Given the description of an element on the screen output the (x, y) to click on. 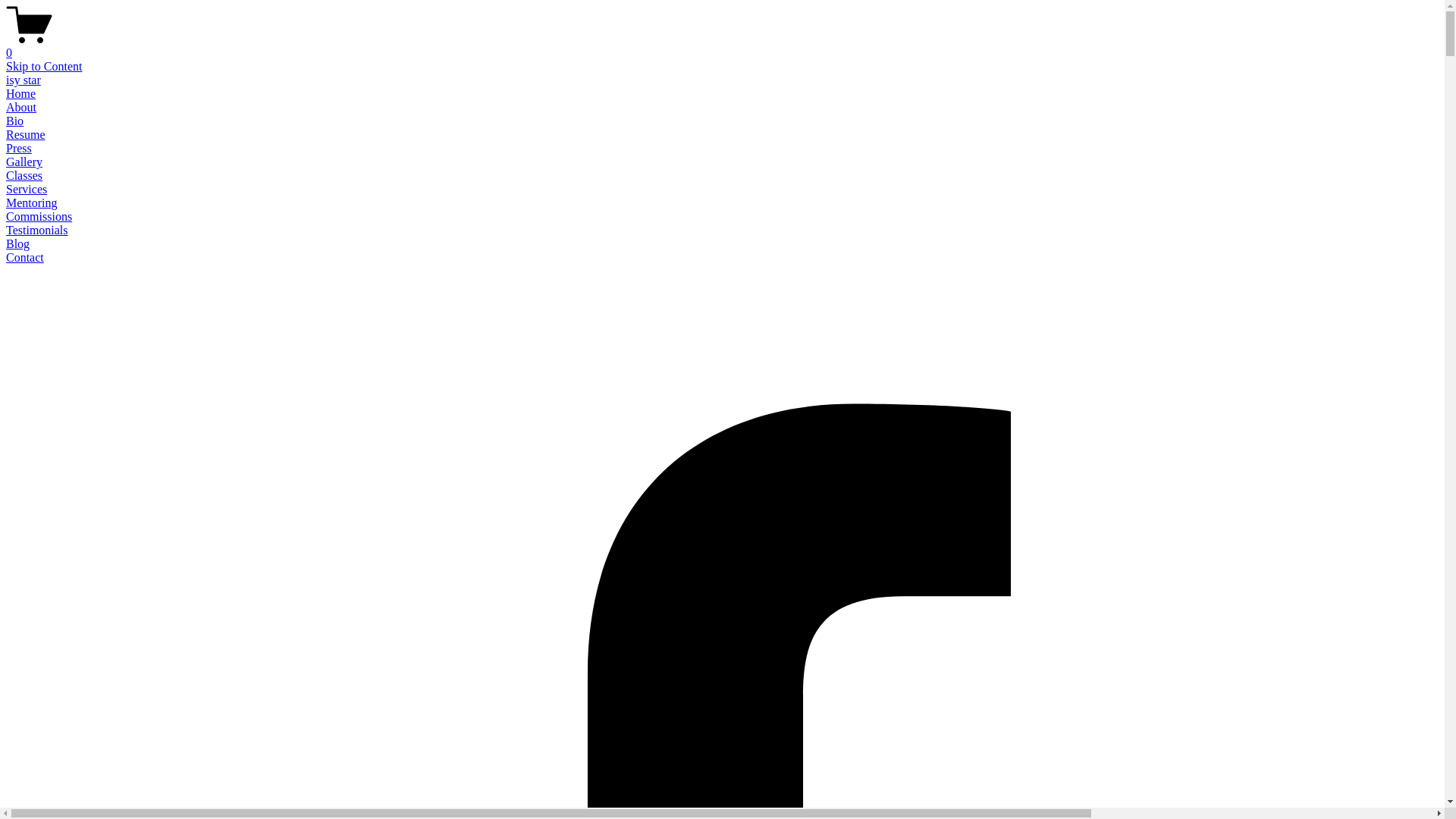
isy star Element type: text (23, 79)
About Element type: text (21, 106)
Testimonials Element type: text (37, 229)
Blog Element type: text (17, 243)
Resume Element type: text (25, 134)
Mentoring Element type: text (31, 202)
Skip to Content Element type: text (43, 65)
Services Element type: text (26, 188)
Contact Element type: text (24, 257)
0 Element type: text (722, 45)
Press Element type: text (18, 147)
Bio Element type: text (14, 120)
Commissions Element type: text (39, 216)
Home Element type: text (20, 93)
Gallery Element type: text (24, 161)
Classes Element type: text (24, 175)
